Given the description of an element on the screen output the (x, y) to click on. 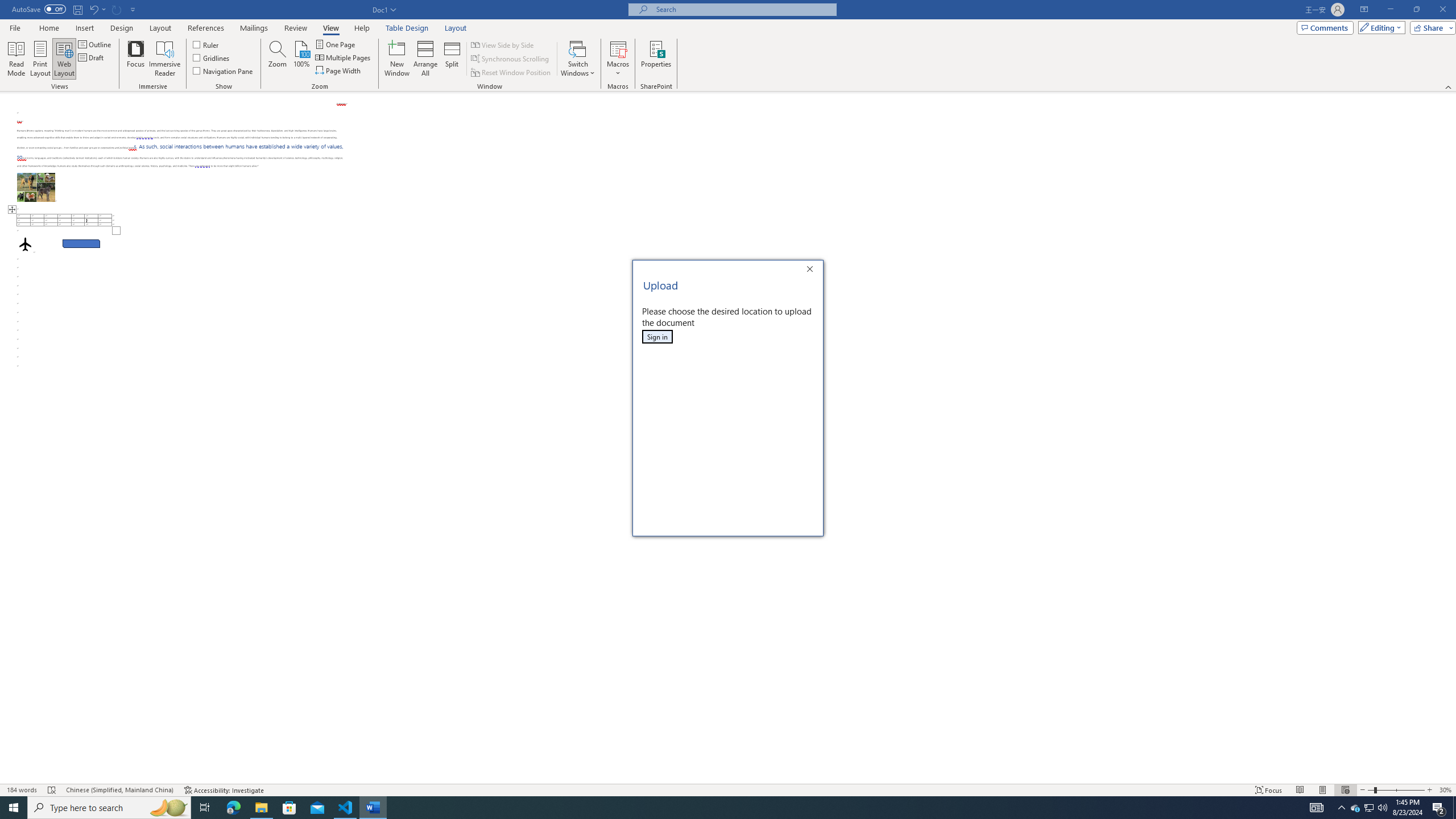
Switch Windows (577, 58)
Layout (455, 28)
Read Mode (16, 58)
Zoom (1396, 790)
100% (301, 58)
Morphological variation in six dogs (36, 187)
Microsoft search (742, 9)
More Options (617, 68)
Table Design (407, 28)
File Explorer - 1 running window (261, 807)
Undo Row Height Spinner (92, 9)
Focus (135, 58)
System (6, 6)
Can't Repeat (117, 9)
